Given the description of an element on the screen output the (x, y) to click on. 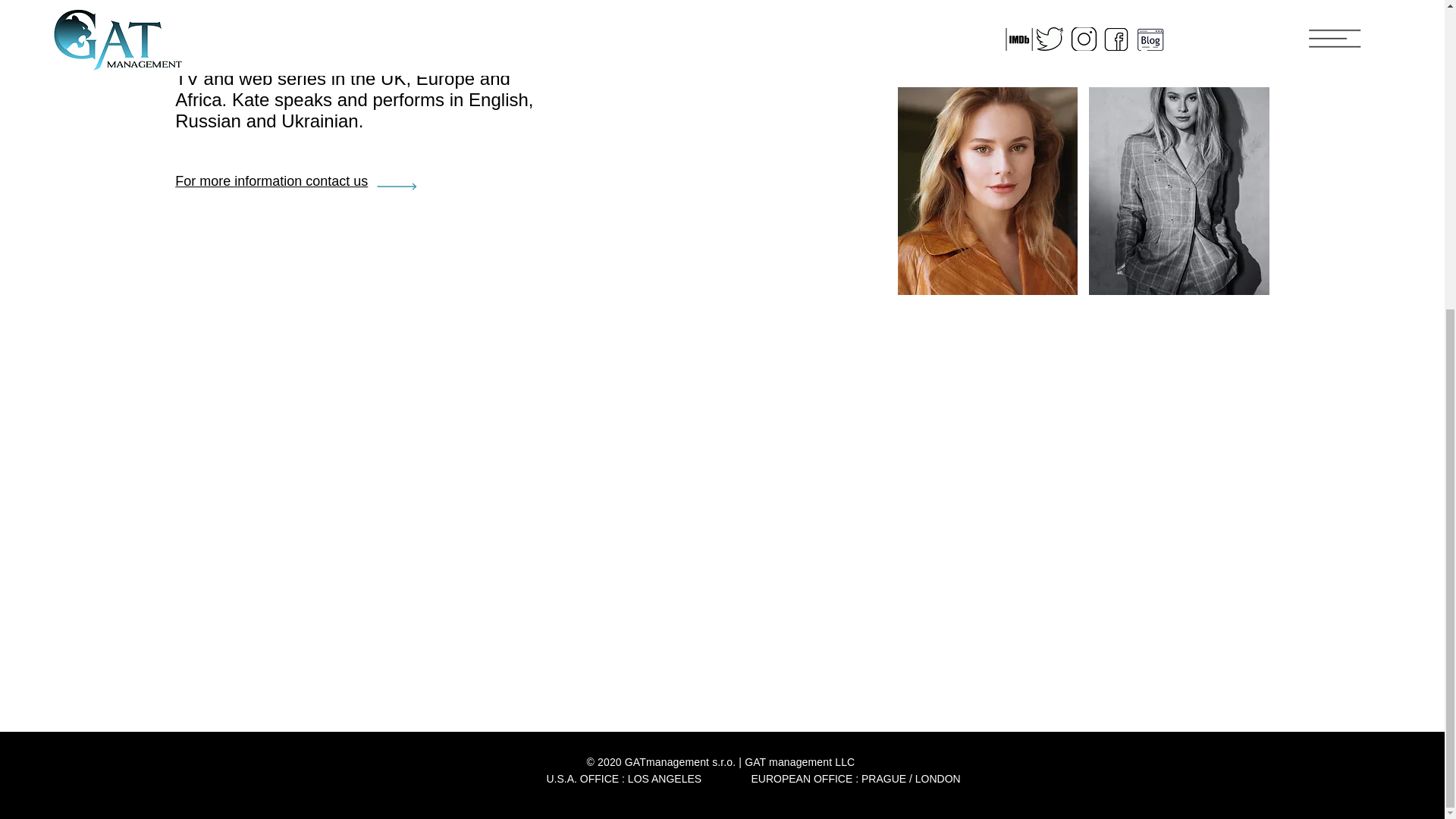
For more information contact us (271, 181)
